Given the description of an element on the screen output the (x, y) to click on. 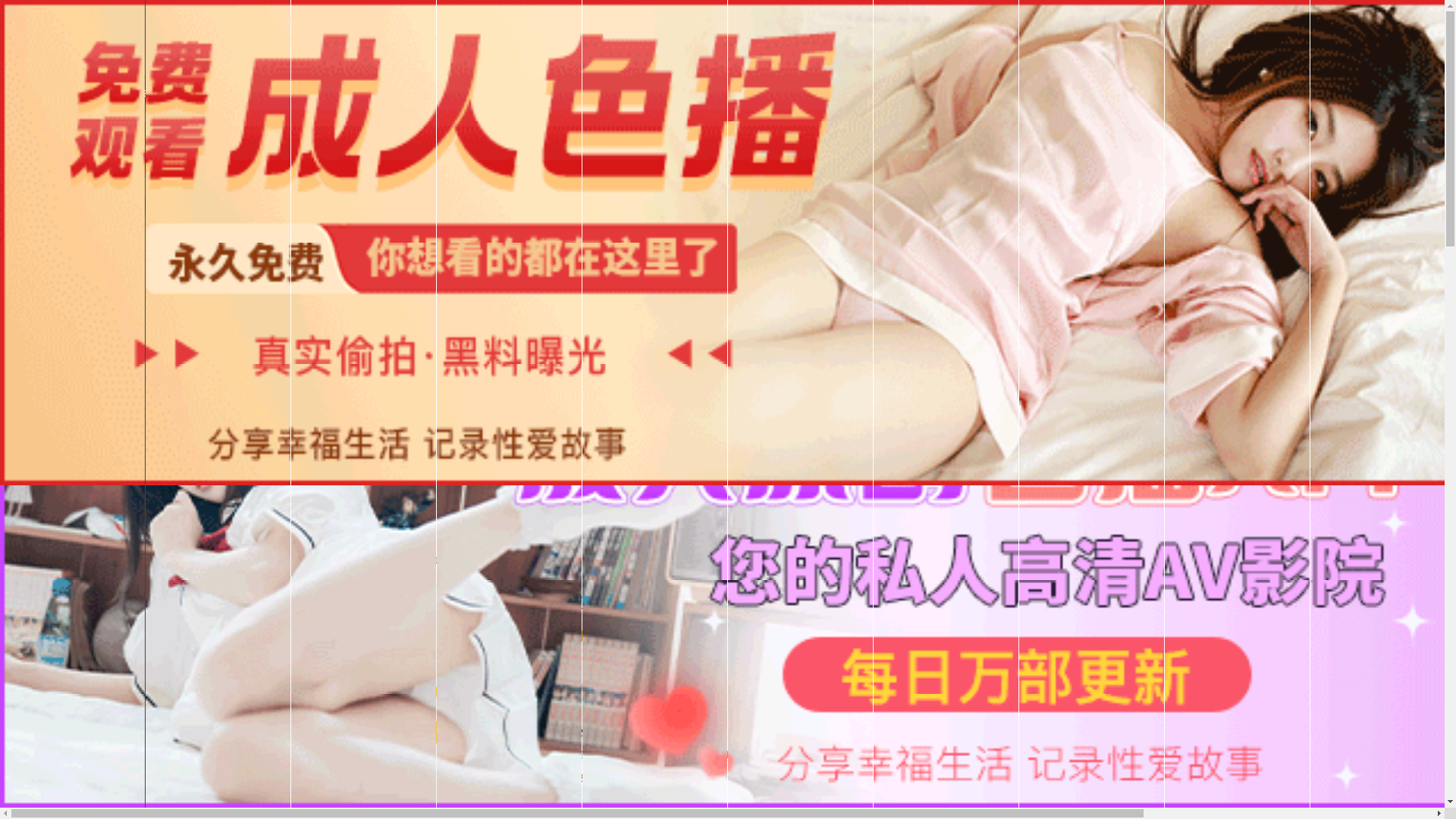
2014 Element type: text (662, 664)
